Given the description of an element on the screen output the (x, y) to click on. 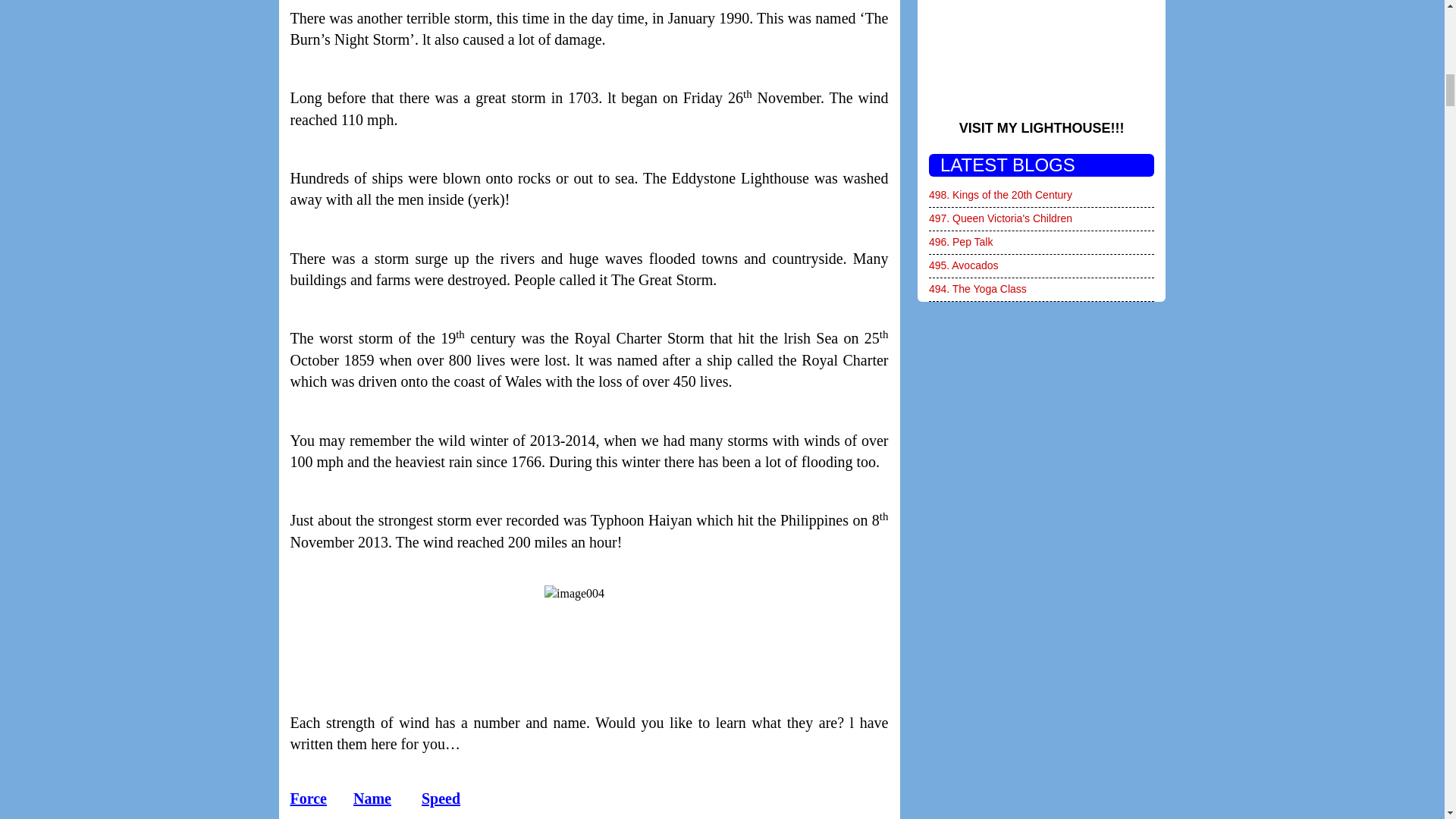
494. The Yoga Class (977, 288)
495. Avocados (963, 265)
498. Kings of the 20th Century (999, 194)
497. Queen Victoria's Children (999, 218)
496. Pep Talk (960, 241)
